Given the description of an element on the screen output the (x, y) to click on. 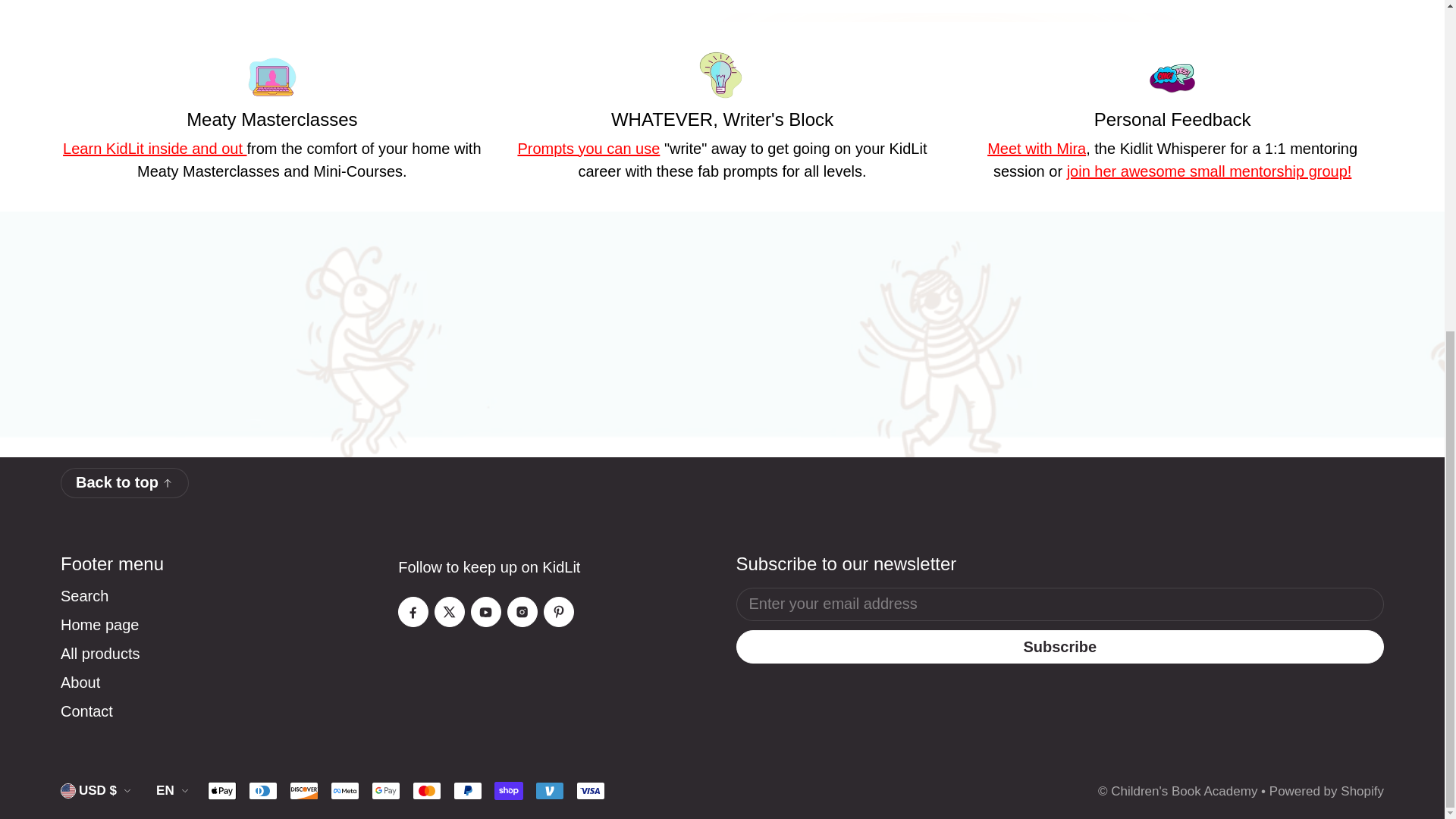
Masterclasses (154, 148)
About (80, 682)
Meet with Mira (1036, 148)
Mira's Magical Mentorship (1209, 170)
Subscribe (1059, 646)
All products (100, 653)
Home page (99, 624)
Pinterest (558, 612)
Prompts (587, 148)
Search (84, 595)
